Given the description of an element on the screen output the (x, y) to click on. 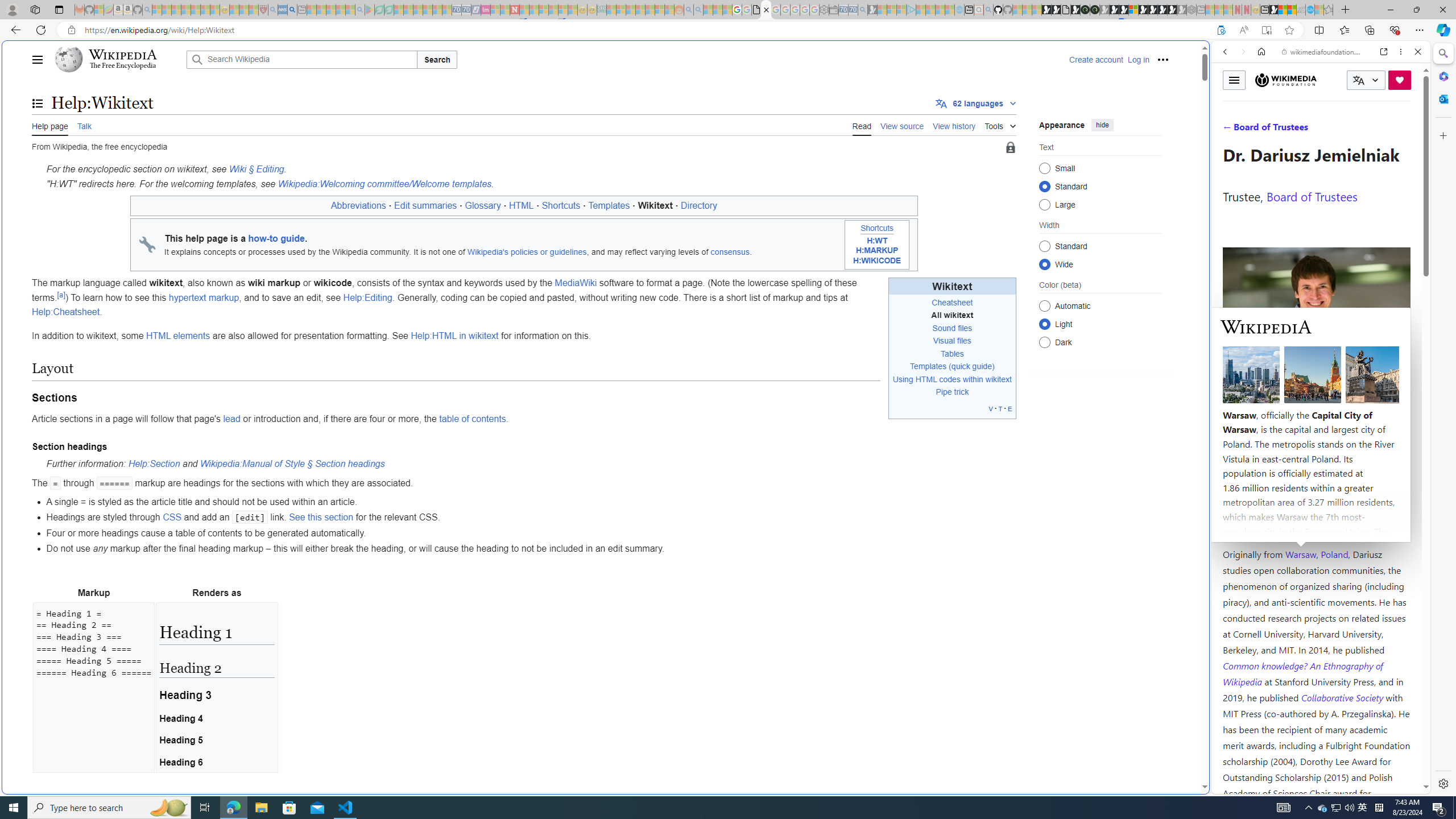
Terms of Use Agreement - Sleeping (378, 9)
Class: i icon icon-translate language-switcher__icon (1358, 80)
WEB   (1230, 130)
Support Wikipedia? (1220, 29)
Search Wikipedia (301, 59)
Expert Portfolios - Sleeping (639, 9)
HTML elements (178, 335)
Earth has six continents not seven, radical new study claims (1291, 9)
Tables (951, 353)
